Given the description of an element on the screen output the (x, y) to click on. 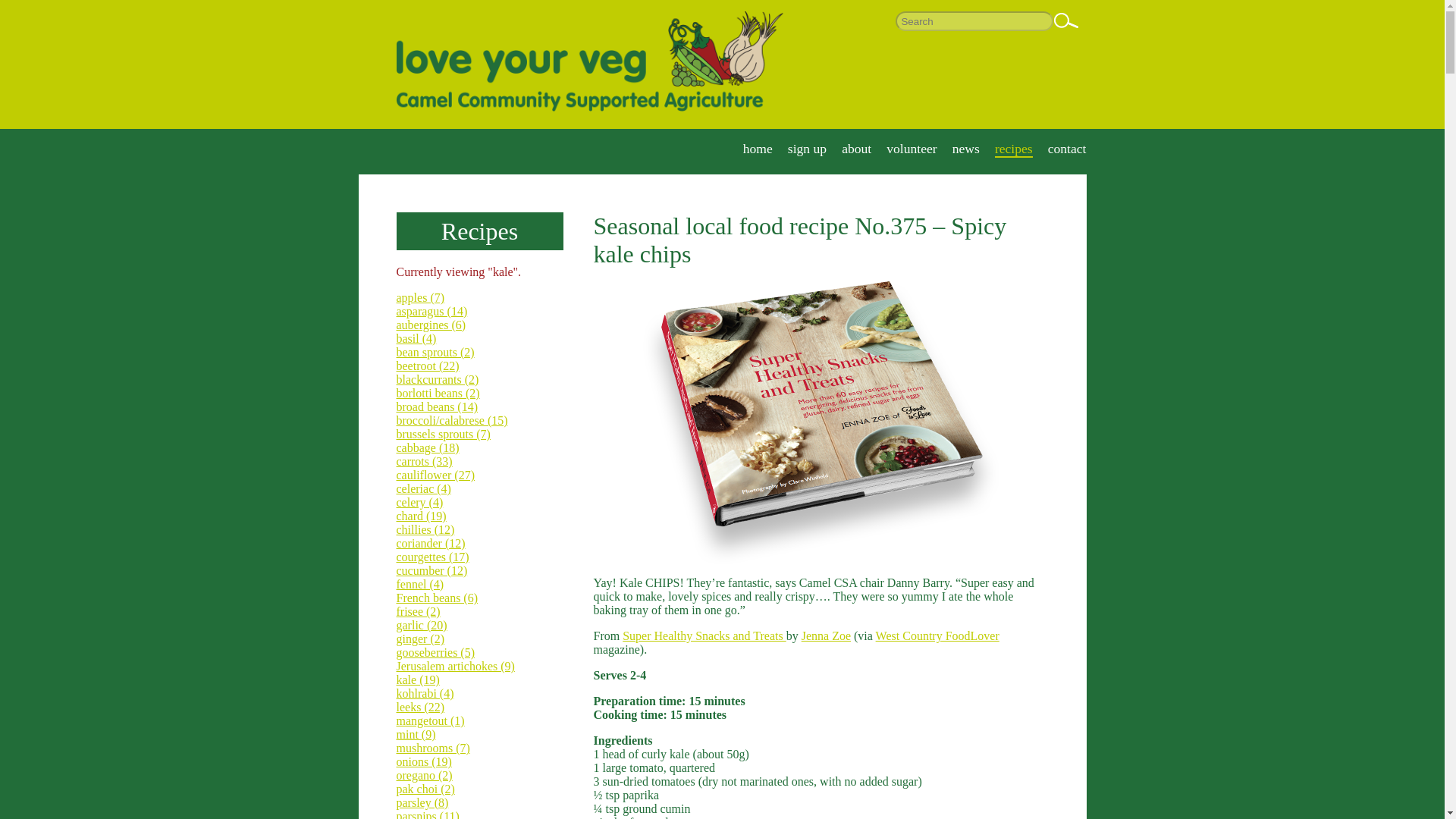
volunteer (911, 148)
Recipes (479, 230)
about (855, 148)
asparagus (431, 310)
carrots (423, 461)
borlotti beans (437, 392)
bean sprouts (435, 351)
broad beans (436, 406)
chard (420, 515)
recipes (1013, 149)
